Given the description of an element on the screen output the (x, y) to click on. 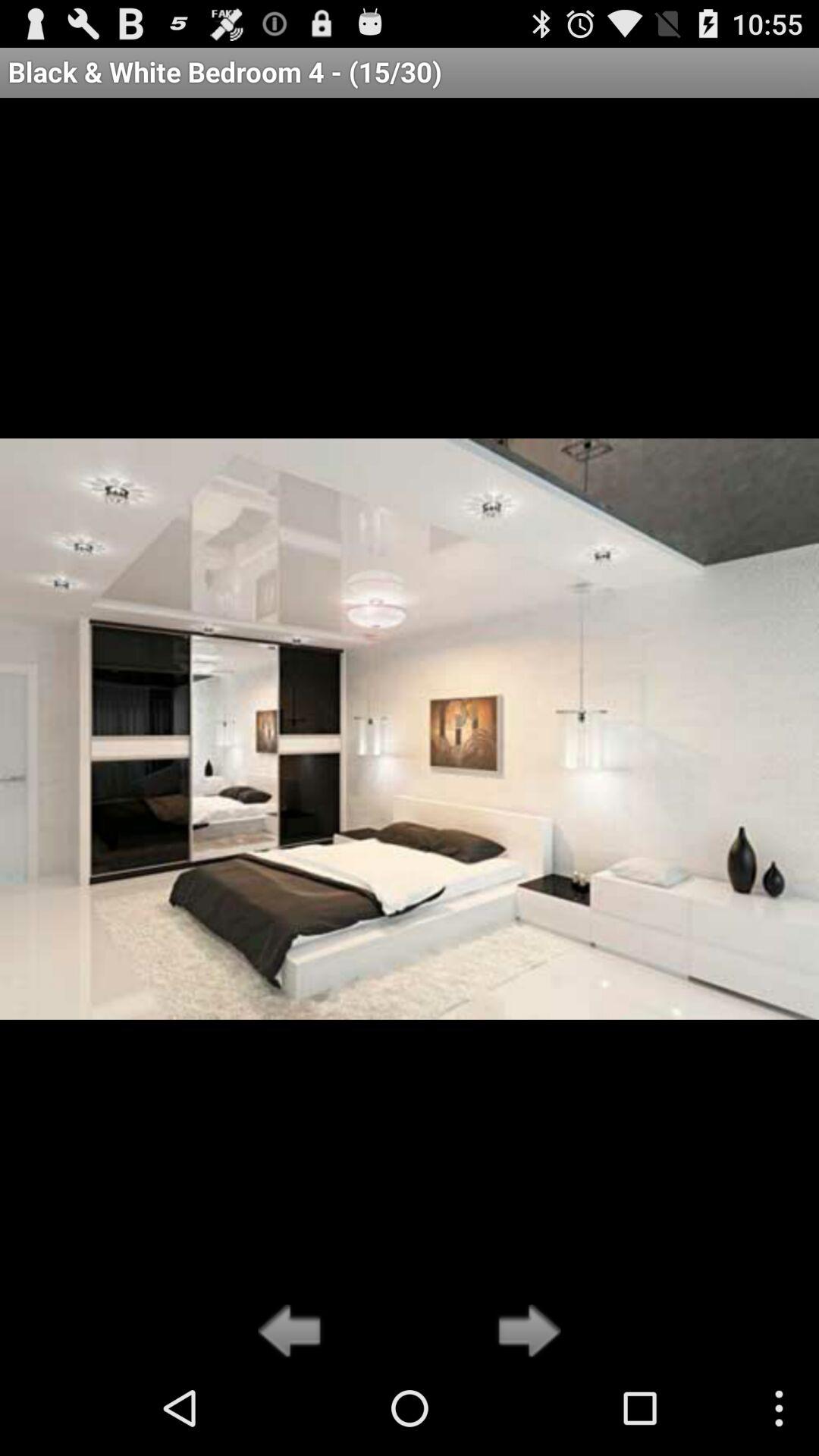
go forward (524, 1332)
